Given the description of an element on the screen output the (x, y) to click on. 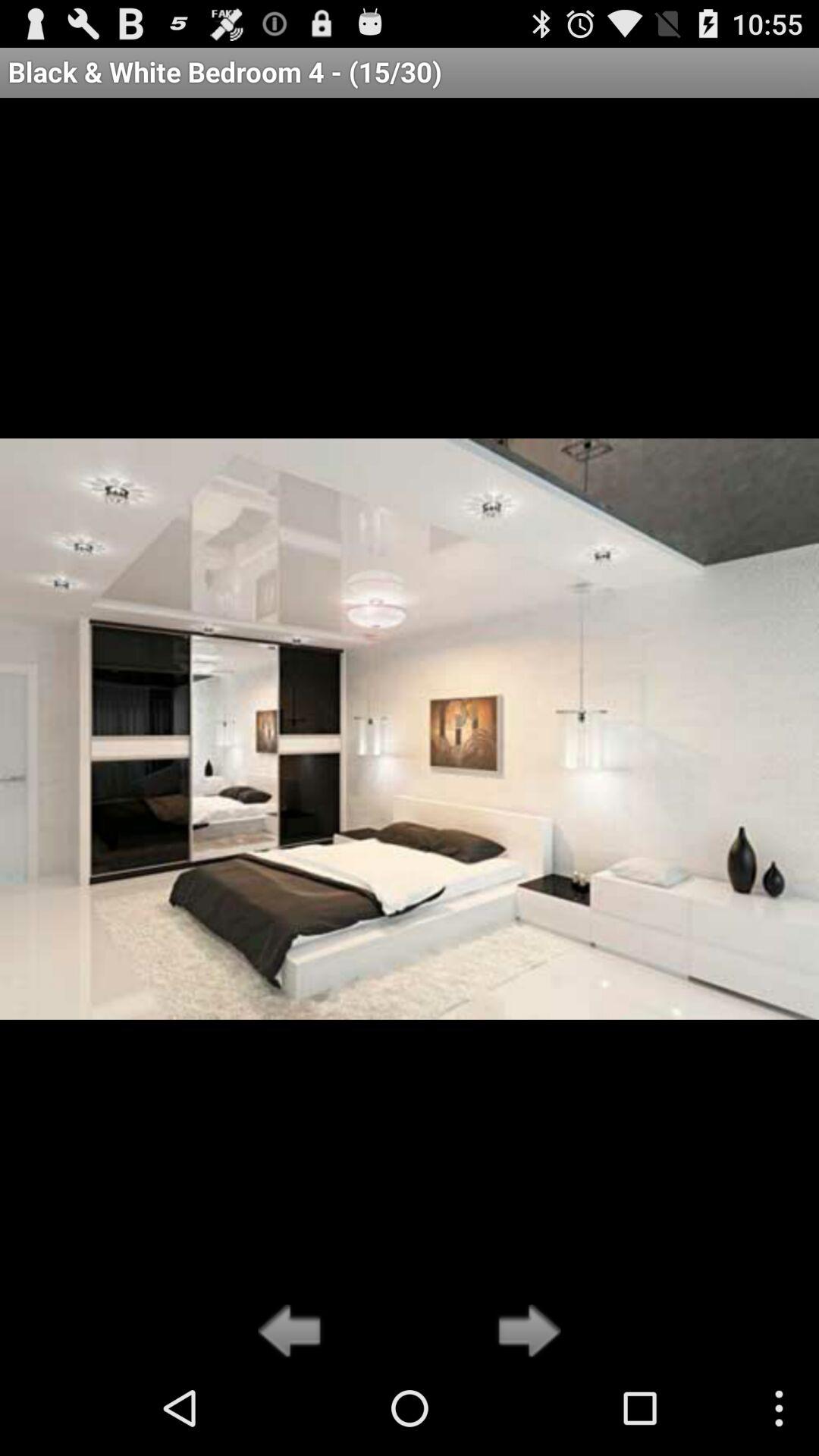
go forward (524, 1332)
